Given the description of an element on the screen output the (x, y) to click on. 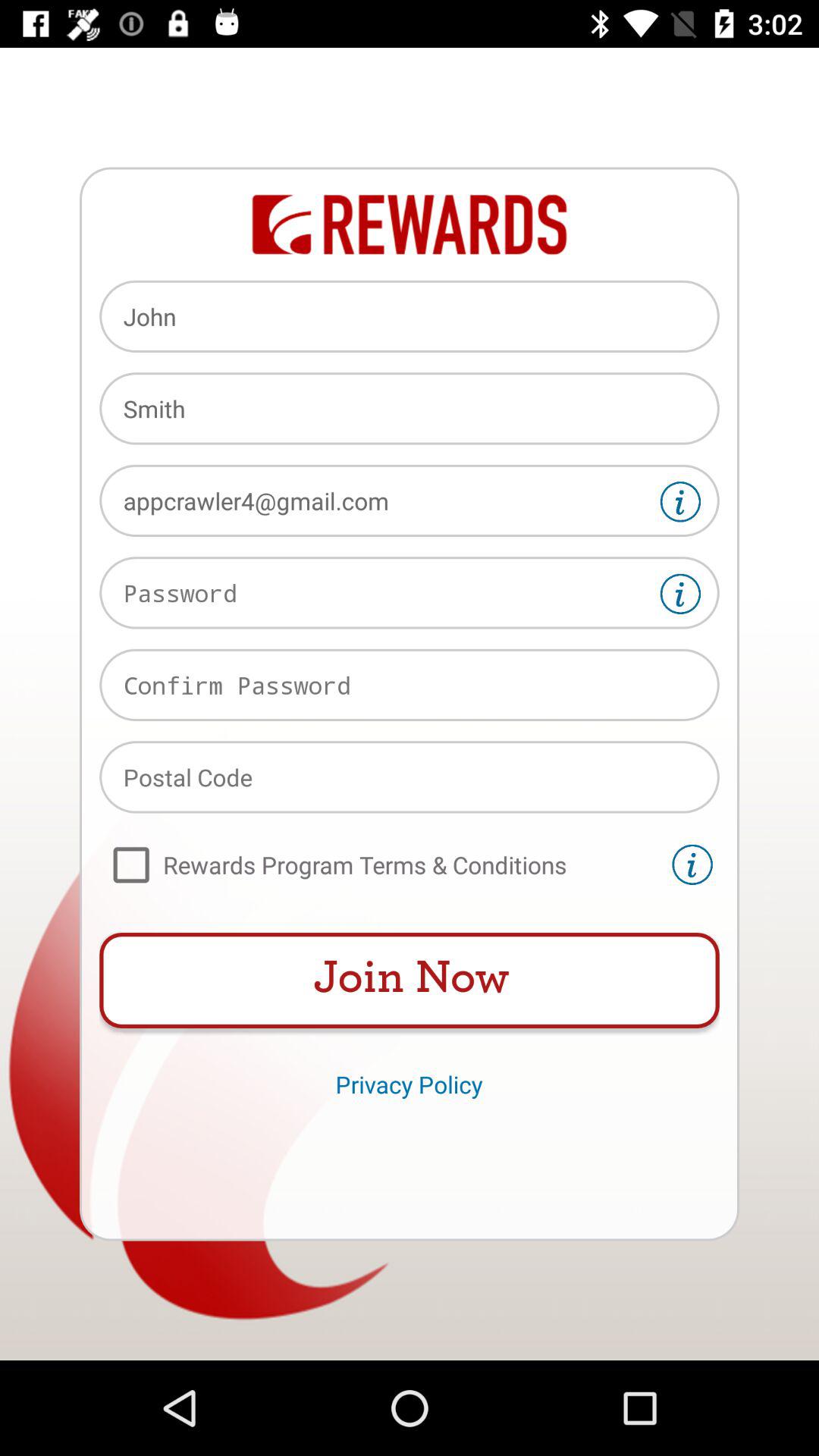
select the icon below rewards program terms icon (409, 980)
